Given the description of an element on the screen output the (x, y) to click on. 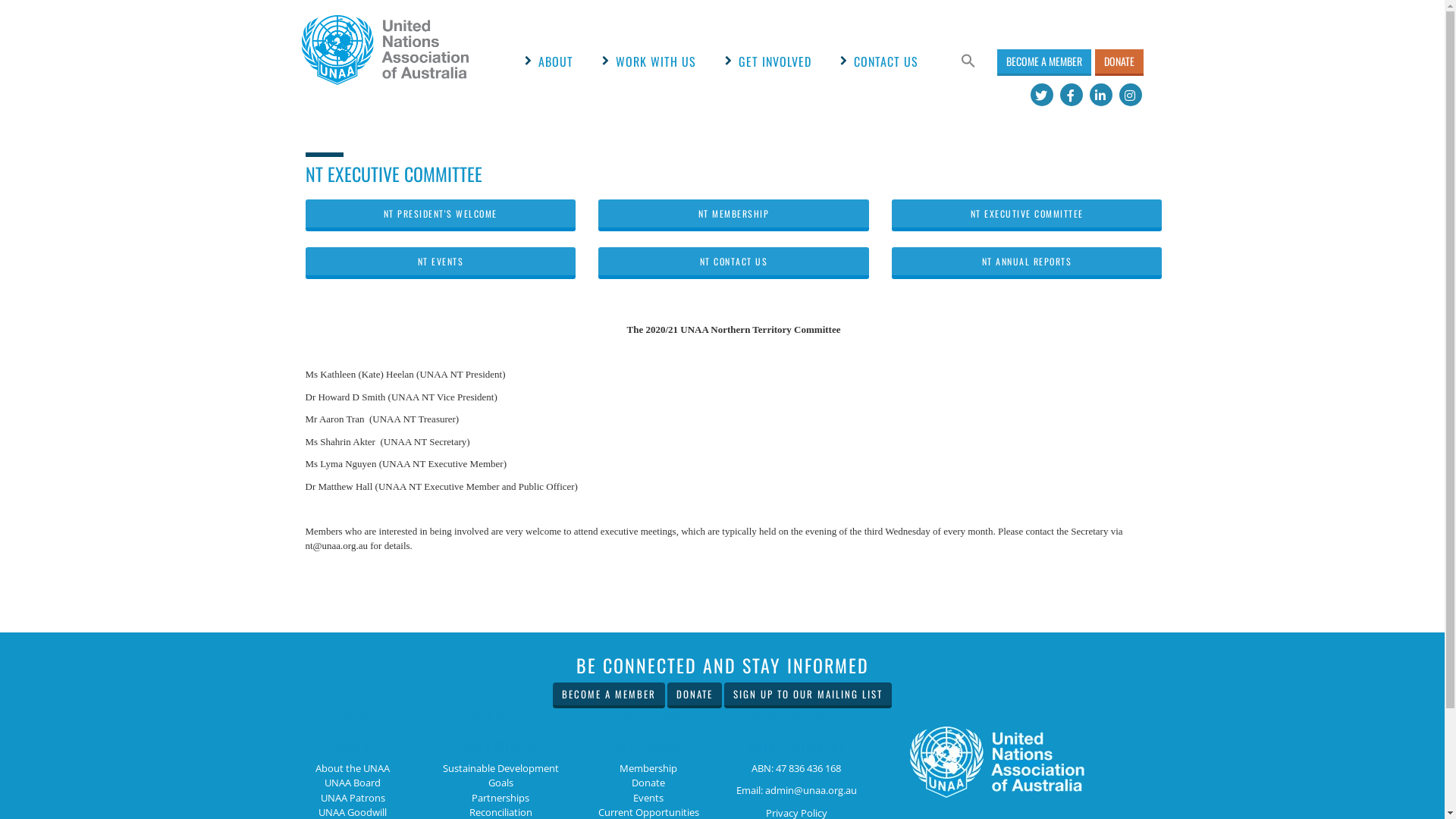
NT EXECUTIVE COMMITTEE Element type: text (1026, 215)
NT MEMBERSHIP Element type: text (733, 215)
UNAA Board Element type: text (352, 782)
DONATE Element type: text (694, 695)
DONATE Element type: text (1119, 60)
BECOME A MEMBER Element type: text (608, 694)
ABN: Element type: text (762, 768)
GET INVOLVED Element type: text (774, 61)
About the UNAA Element type: text (352, 768)
CONTACT US Element type: text (885, 61)
Donate Element type: text (648, 782)
NT CONTACT US Element type: text (733, 263)
NT EVENTS Element type: text (439, 263)
ABOUT Element type: text (555, 61)
BECOME A MEMBER Element type: text (1043, 60)
BECOME A MEMBER Element type: text (608, 695)
Partnerships Element type: text (500, 797)
DONATE Element type: text (694, 694)
UNAA Patrons Element type: text (352, 797)
WORK WITH US Element type: text (655, 61)
Sign Up To Our Mailing List Element type: text (807, 695)
DONATE Element type: text (1119, 62)
Sustainable Development Goals Element type: text (500, 775)
Membership Element type: text (648, 768)
NT ANNUAL REPORTS Element type: text (1026, 263)
NT PRESIDENT'S WELCOME Element type: text (439, 215)
Events Element type: text (648, 797)
Email: Element type: text (748, 790)
BECOME A MEMBER Element type: text (1043, 62)
